Given the description of an element on the screen output the (x, y) to click on. 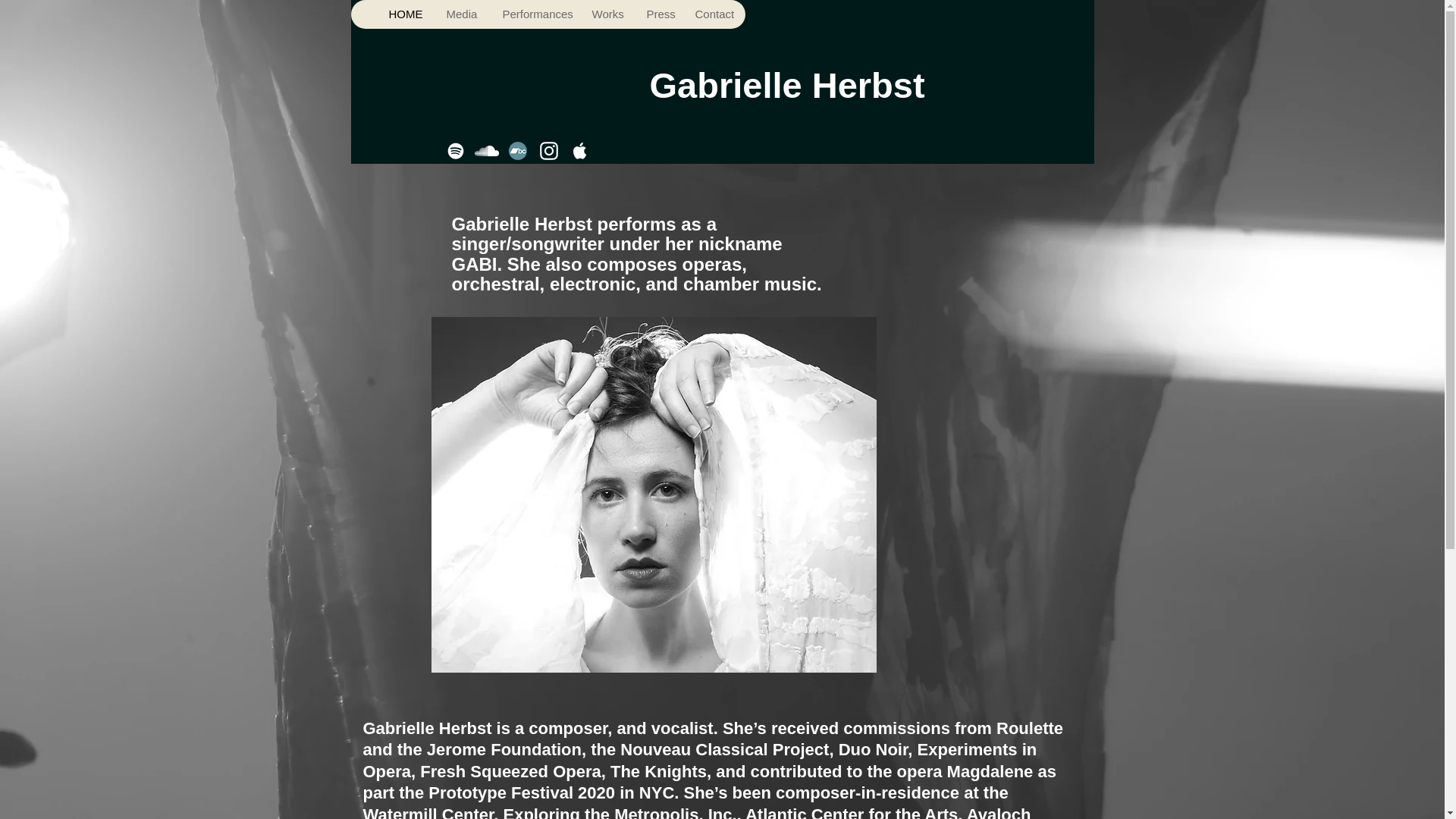
Performances (534, 14)
Gabrielle Herbst (786, 85)
Press (657, 14)
Works (606, 14)
Media (461, 14)
HOME (404, 14)
Contact (713, 14)
